Given the description of an element on the screen output the (x, y) to click on. 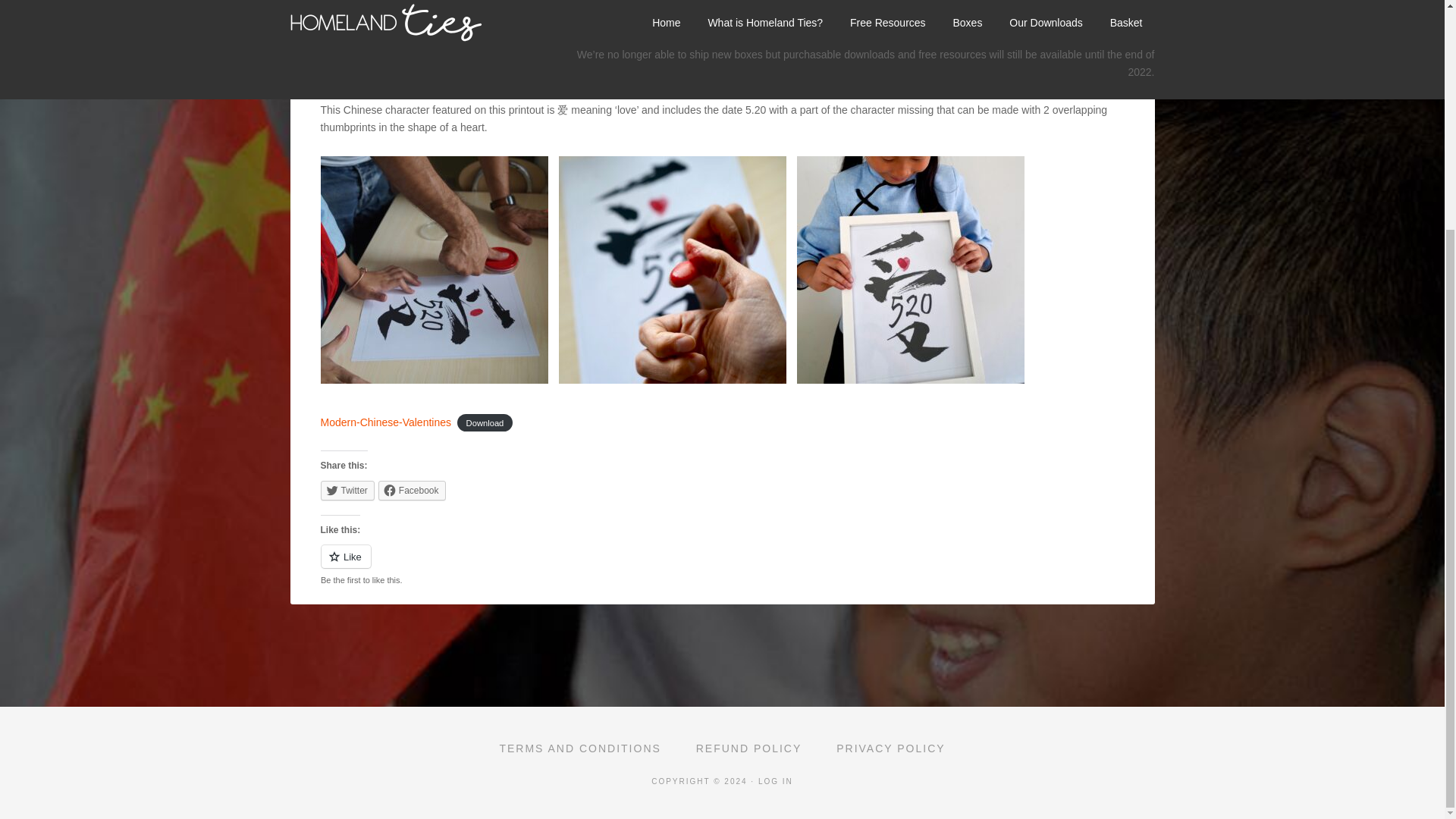
Click to share on Twitter (347, 490)
Click to share on Facebook (411, 490)
Like or Reblog (722, 565)
